Given the description of an element on the screen output the (x, y) to click on. 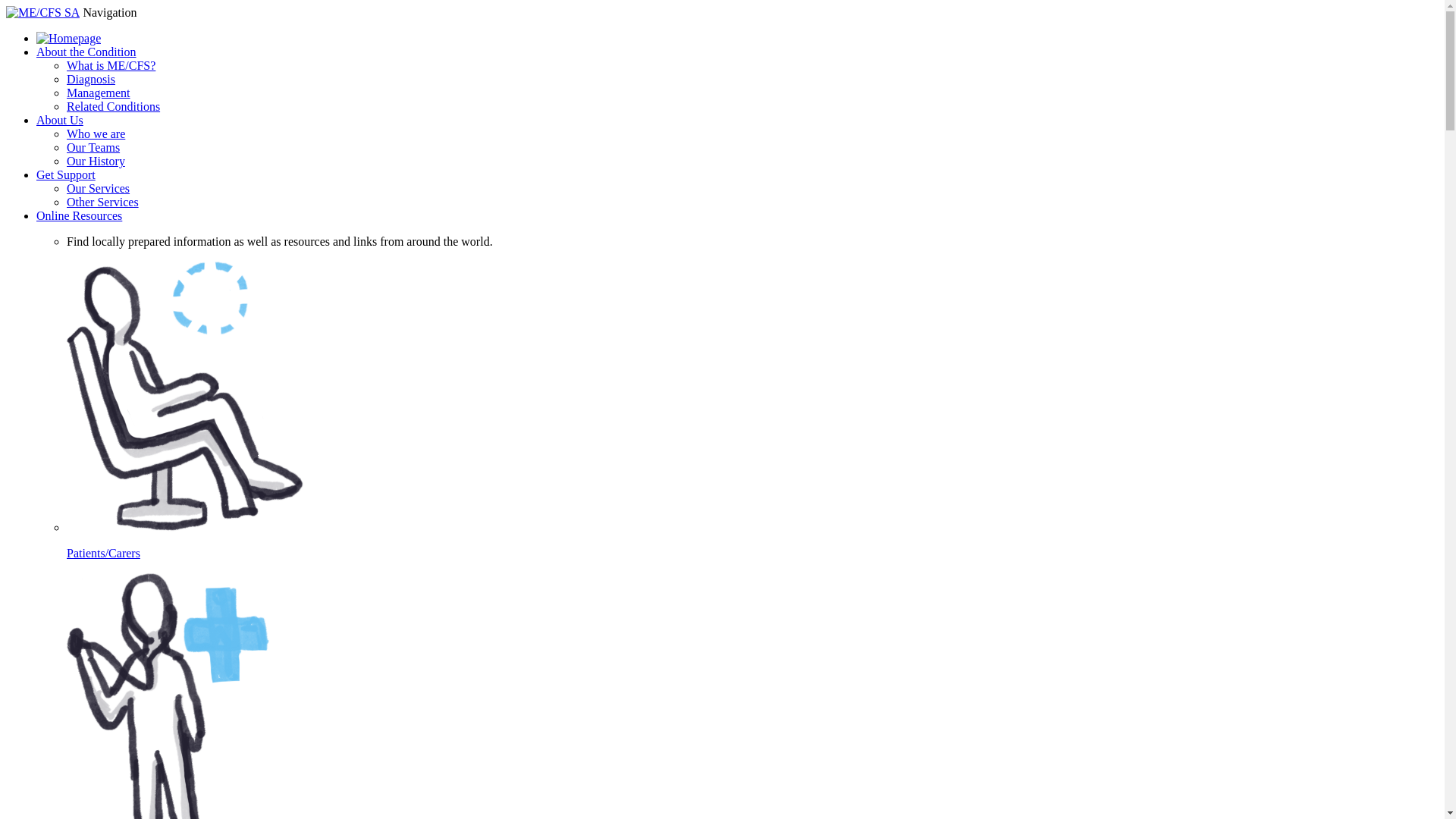
Other Services Element type: text (102, 201)
About Us Element type: text (59, 119)
What is ME/CFS? Element type: text (110, 65)
About the Condition Element type: text (86, 51)
Online Resources Element type: text (79, 215)
Who we are Element type: text (95, 133)
Our History Element type: text (95, 160)
Management Element type: text (98, 92)
Related Conditions Element type: text (113, 106)
Our Services Element type: text (97, 188)
Get Support Element type: text (65, 174)
Our Teams Element type: text (92, 147)
Diagnosis Element type: text (90, 78)
Patients/Carers Element type: text (752, 540)
